Given the description of an element on the screen output the (x, y) to click on. 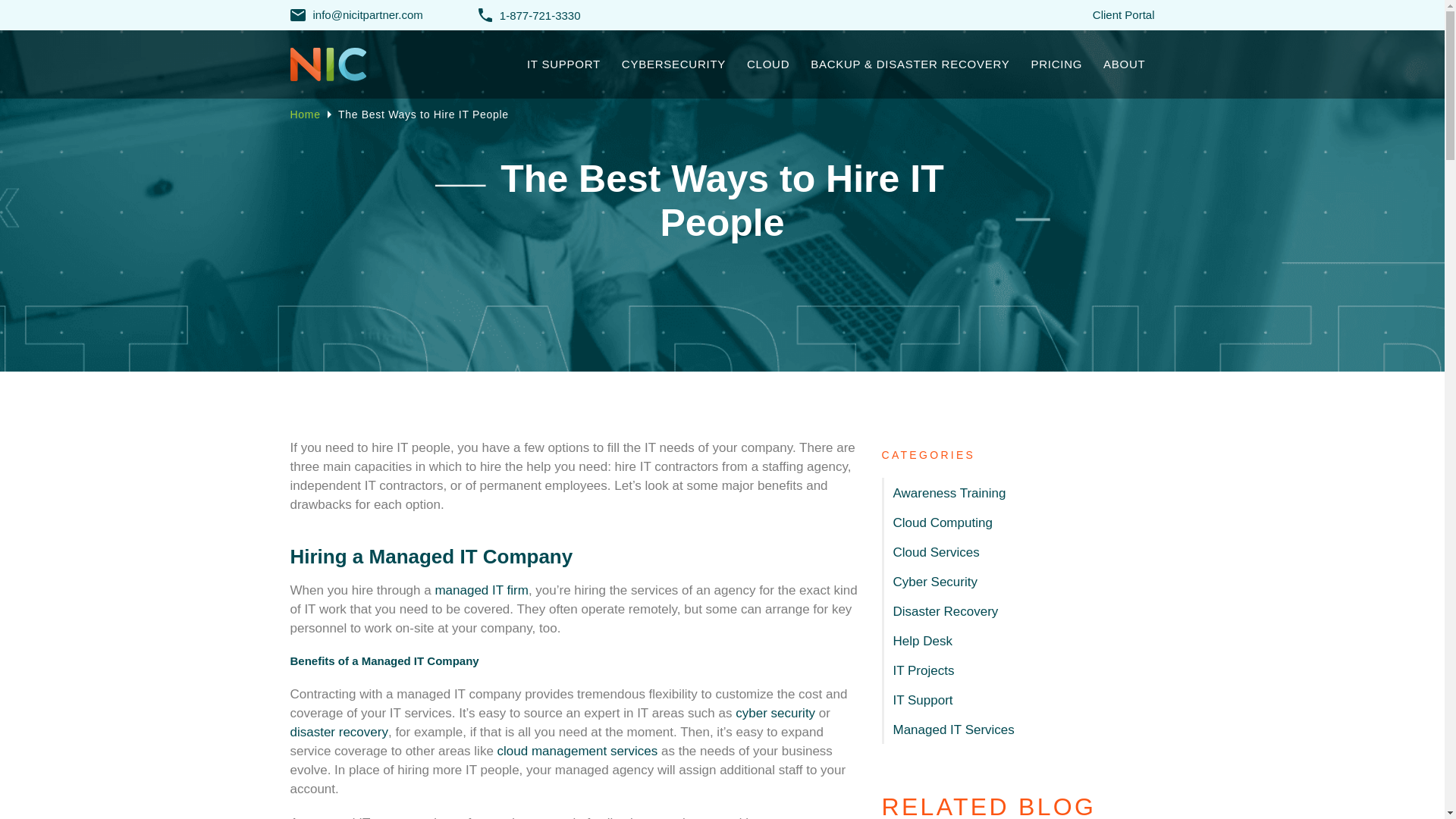
1-877-721-3330 (529, 15)
CYBERSECURITY (673, 64)
Client Portal (1123, 14)
disaster recovery (338, 731)
Home (304, 114)
managed IT firm (480, 590)
CLOUD (767, 64)
cyber security (775, 712)
IT SUPPORT (564, 64)
cloud management services (577, 750)
NIC Inc. (351, 66)
PRICING (1056, 64)
